Given the description of an element on the screen output the (x, y) to click on. 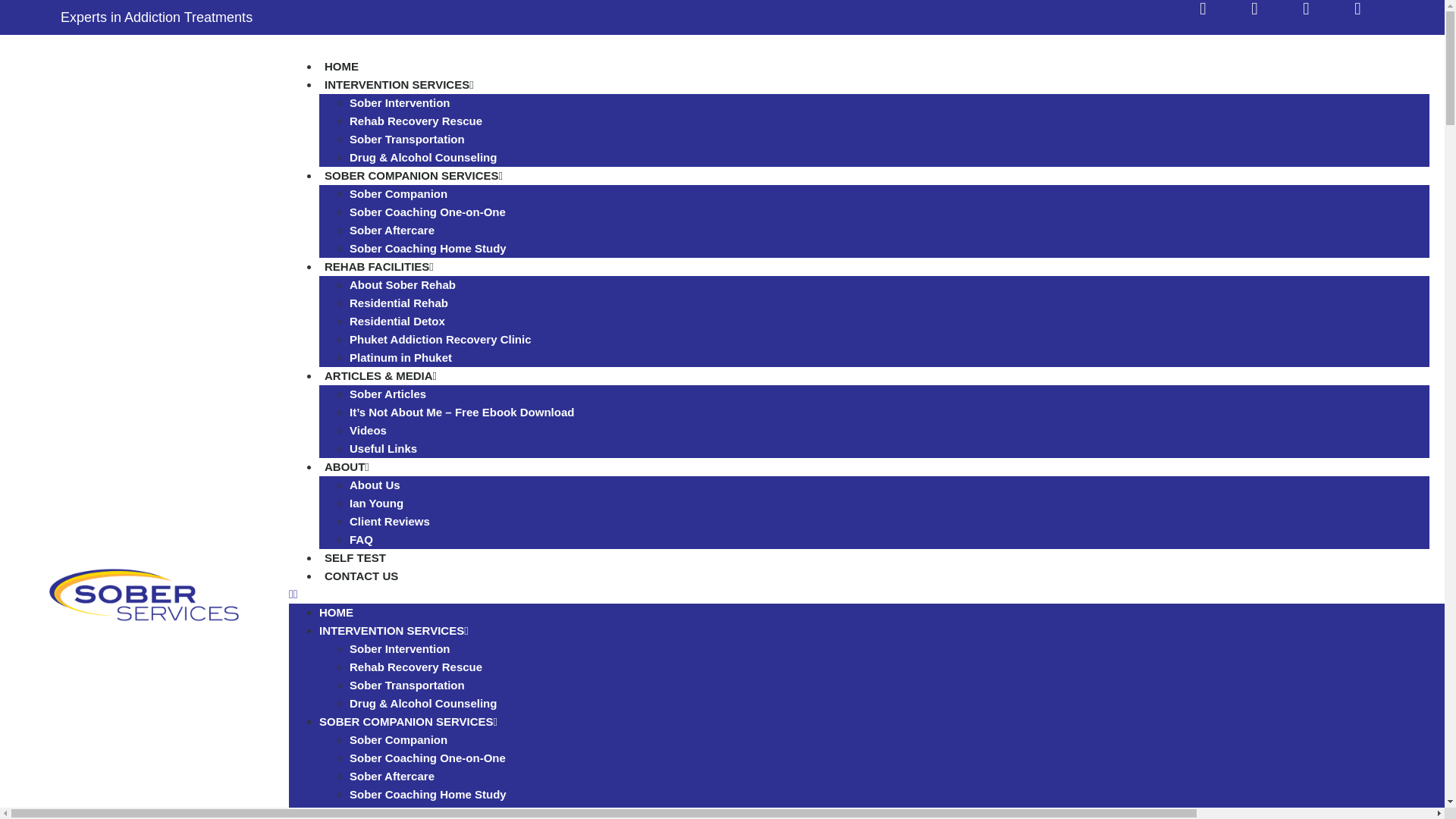
FAQ (360, 539)
HOME (341, 66)
About Sober Rehab (402, 284)
About Us (374, 484)
Useful Links (382, 448)
SOBER COMPANION SERVICES (413, 175)
ABOUT (346, 466)
HOME (335, 612)
Sober Transportation (406, 138)
REHAB FACILITIES (378, 266)
Sober Companion (397, 193)
Sober Transportation (406, 684)
Ian Young (376, 502)
Sober Aftercare (391, 229)
Rehab Recovery Rescue (415, 666)
